Given the description of an element on the screen output the (x, y) to click on. 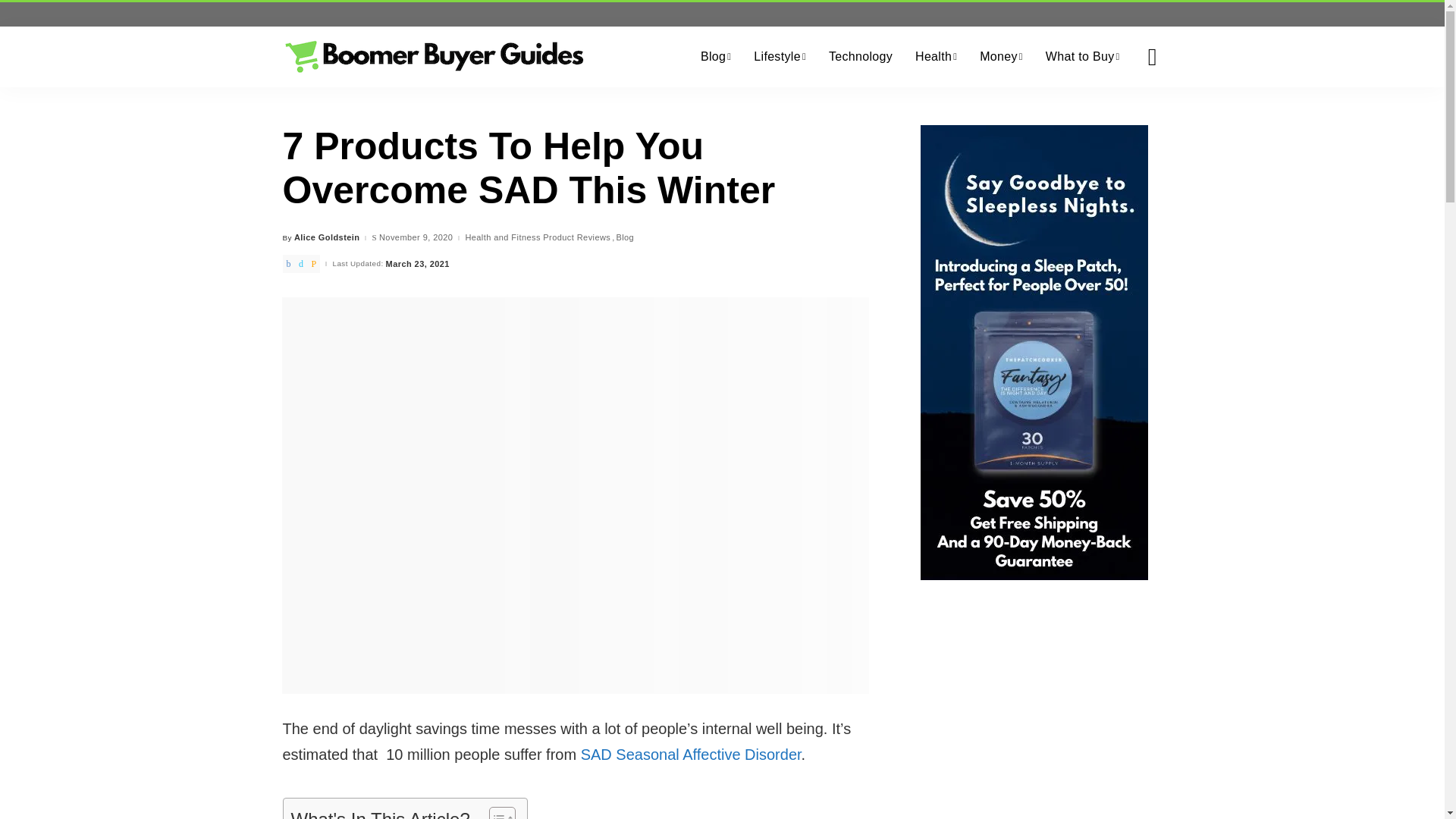
2020-11-09T21:53:38-08:00 (415, 237)
Boomer Buyer Guides (433, 56)
